Given the description of an element on the screen output the (x, y) to click on. 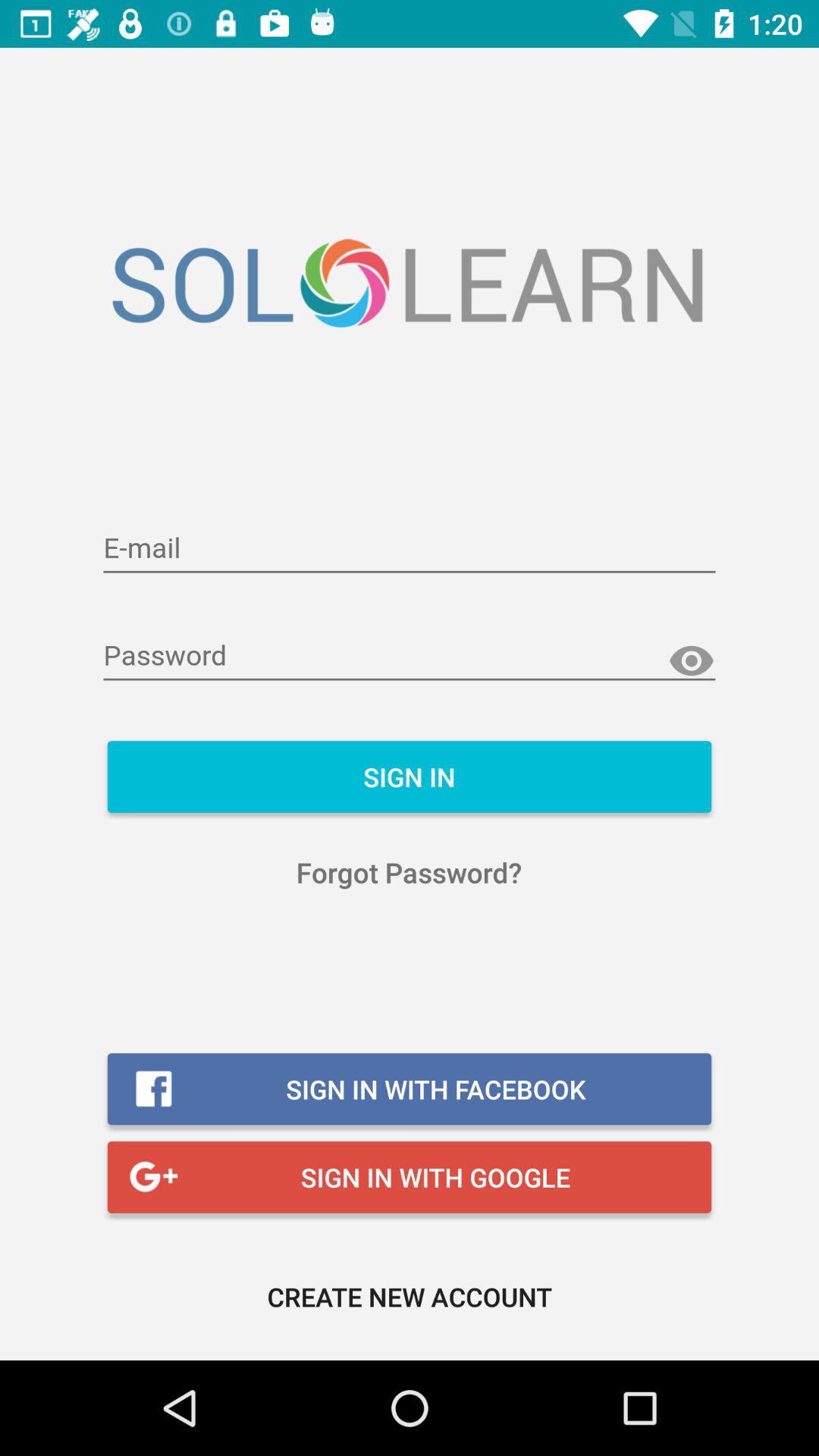
turn on the forgot password? item (409, 872)
